Given the description of an element on the screen output the (x, y) to click on. 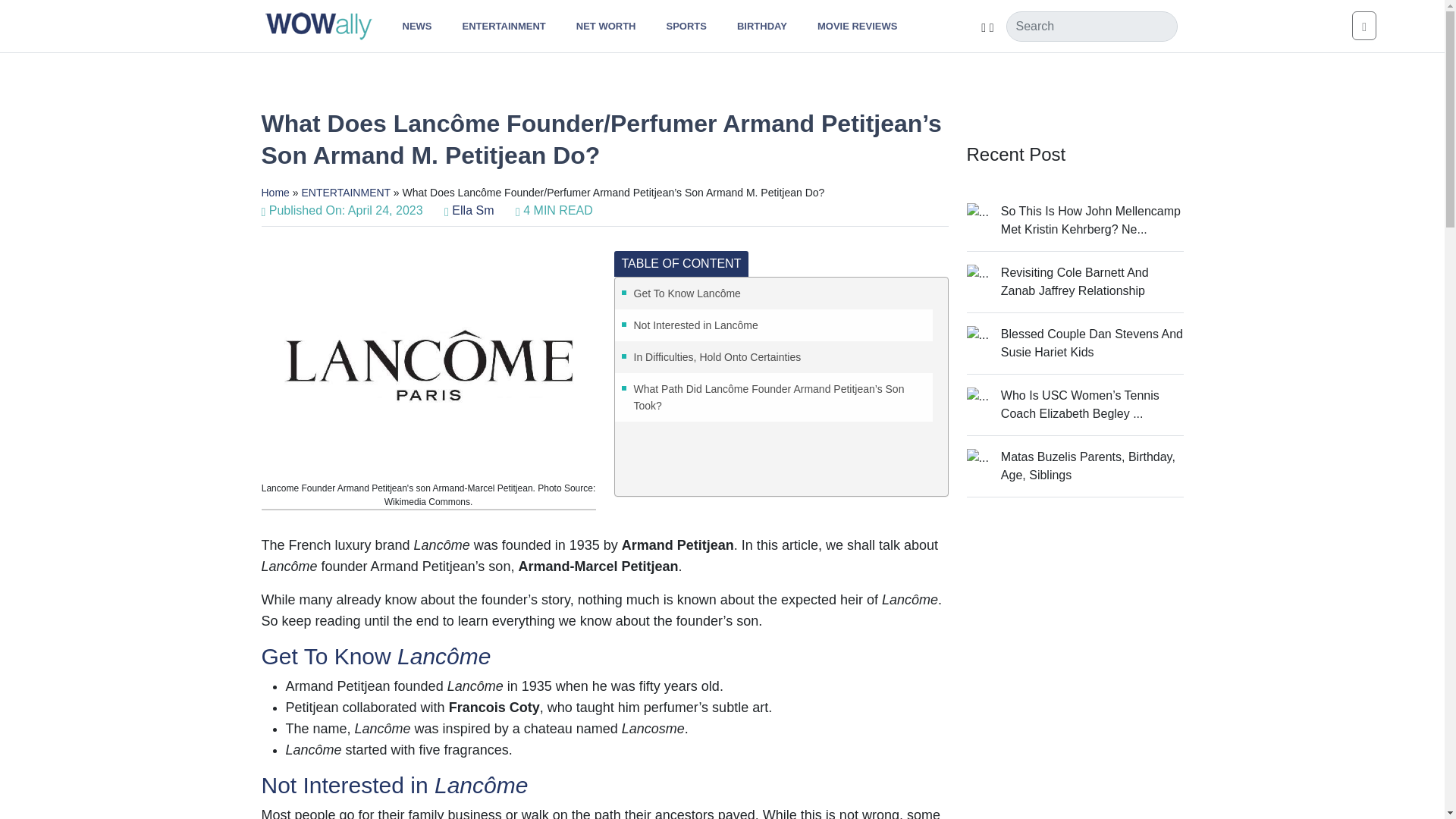
NEWS (416, 25)
In Difficulties, Hold Onto Certainties (773, 356)
Ella Sm (472, 210)
ENTERTAINMENT (503, 25)
Posts by Ella Sm (472, 210)
NET WORTH (605, 25)
Home (274, 192)
MOVIE REVIEWS (857, 25)
ENTERTAINMENT (345, 192)
SPORTS (685, 25)
